Given the description of an element on the screen output the (x, y) to click on. 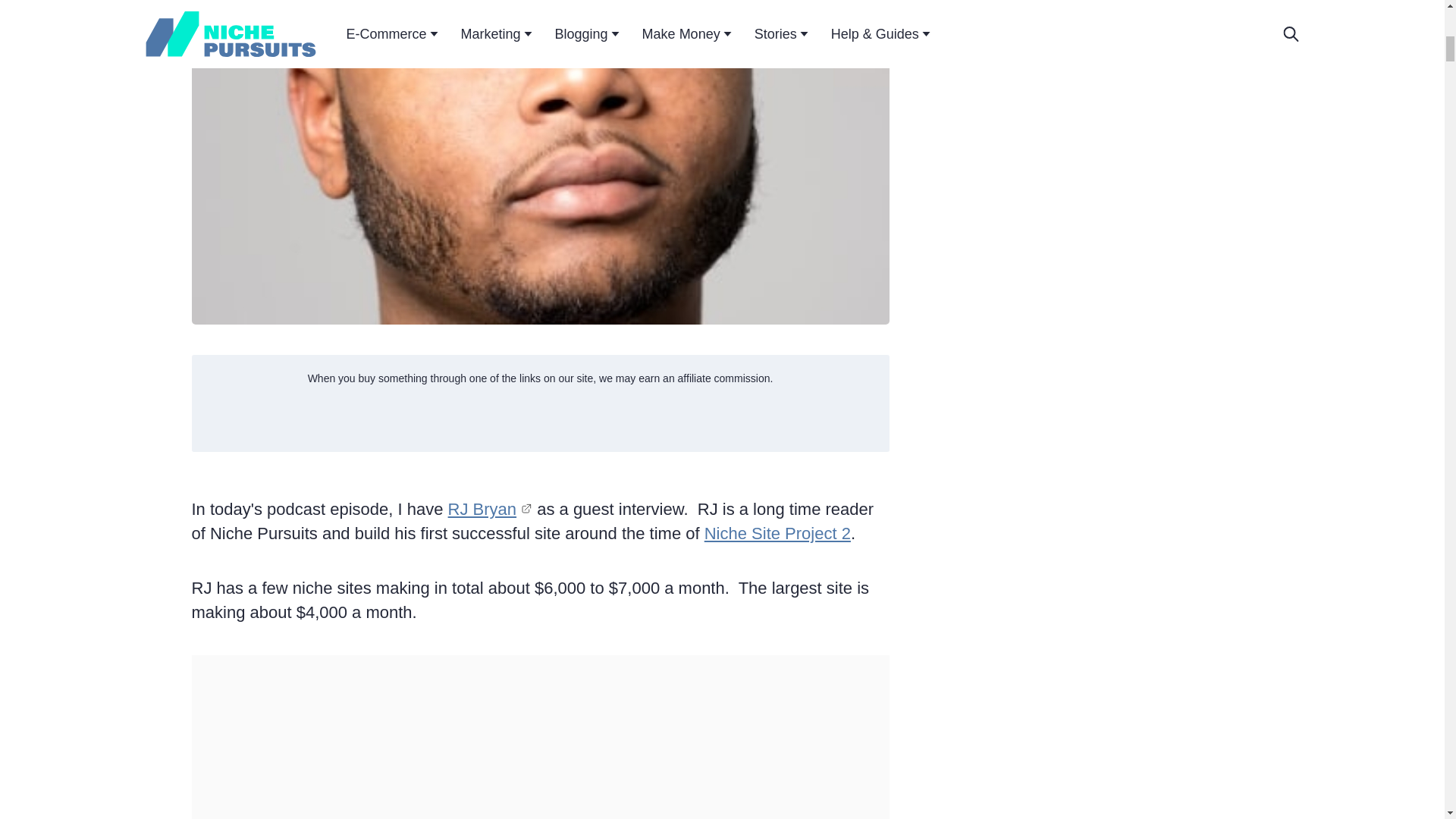
RJ Bryan (490, 508)
Niche Site Project 2 (777, 533)
